Given the description of an element on the screen output the (x, y) to click on. 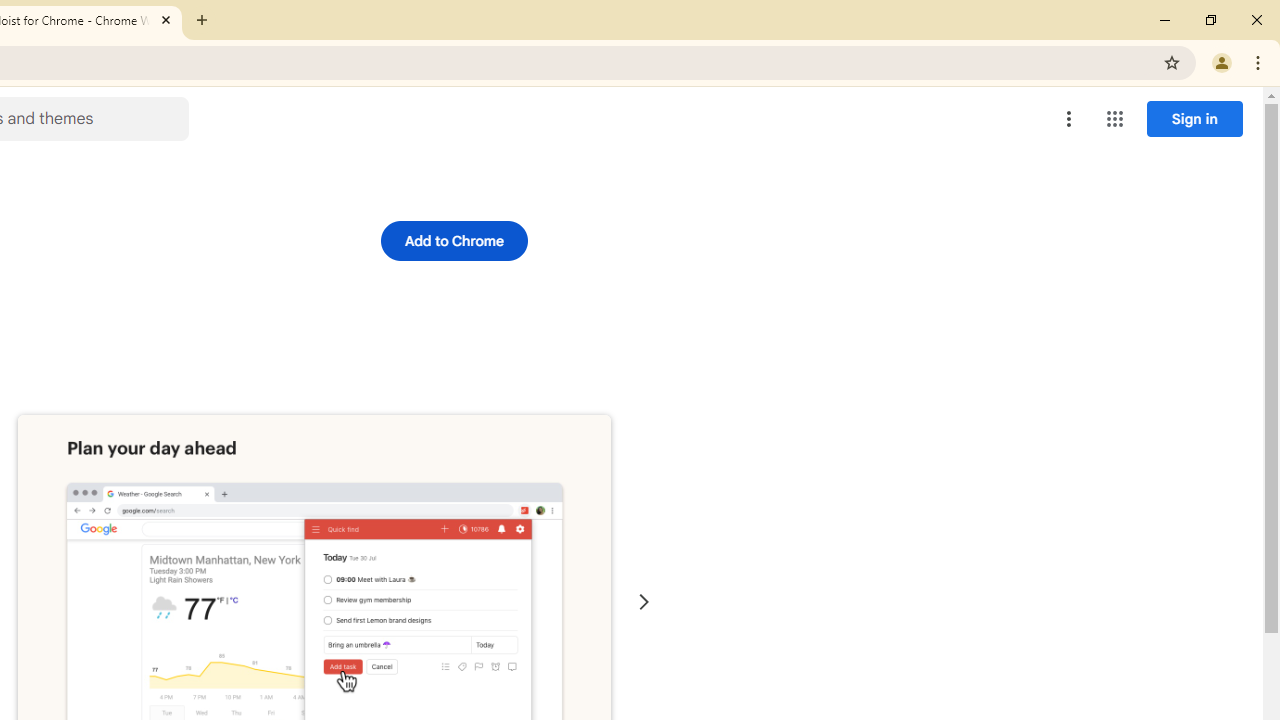
Add to Chrome (453, 240)
Next slide (643, 601)
More options menu (1069, 118)
